Given the description of an element on the screen output the (x, y) to click on. 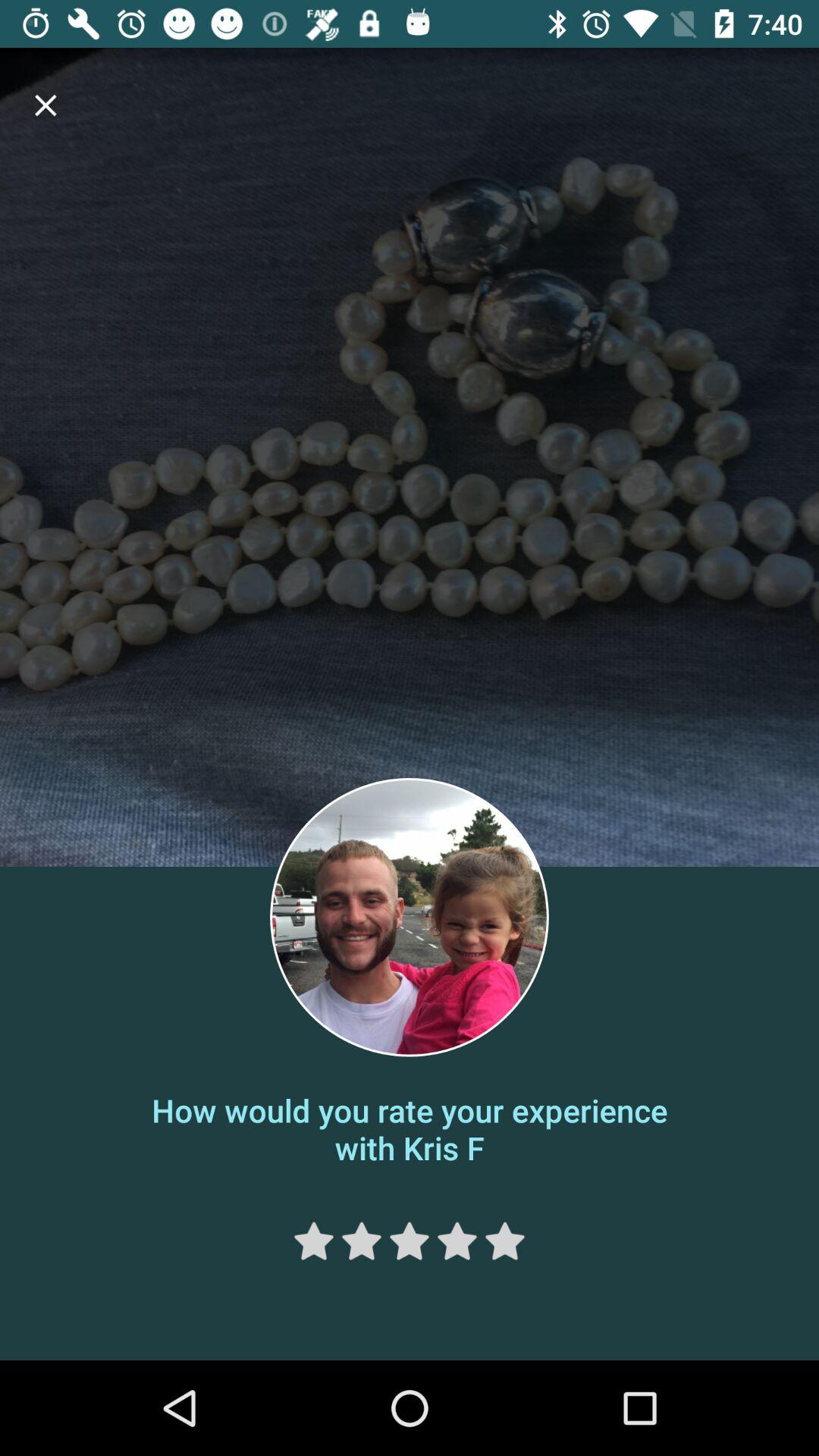
select rating (409, 1240)
